Given the description of an element on the screen output the (x, y) to click on. 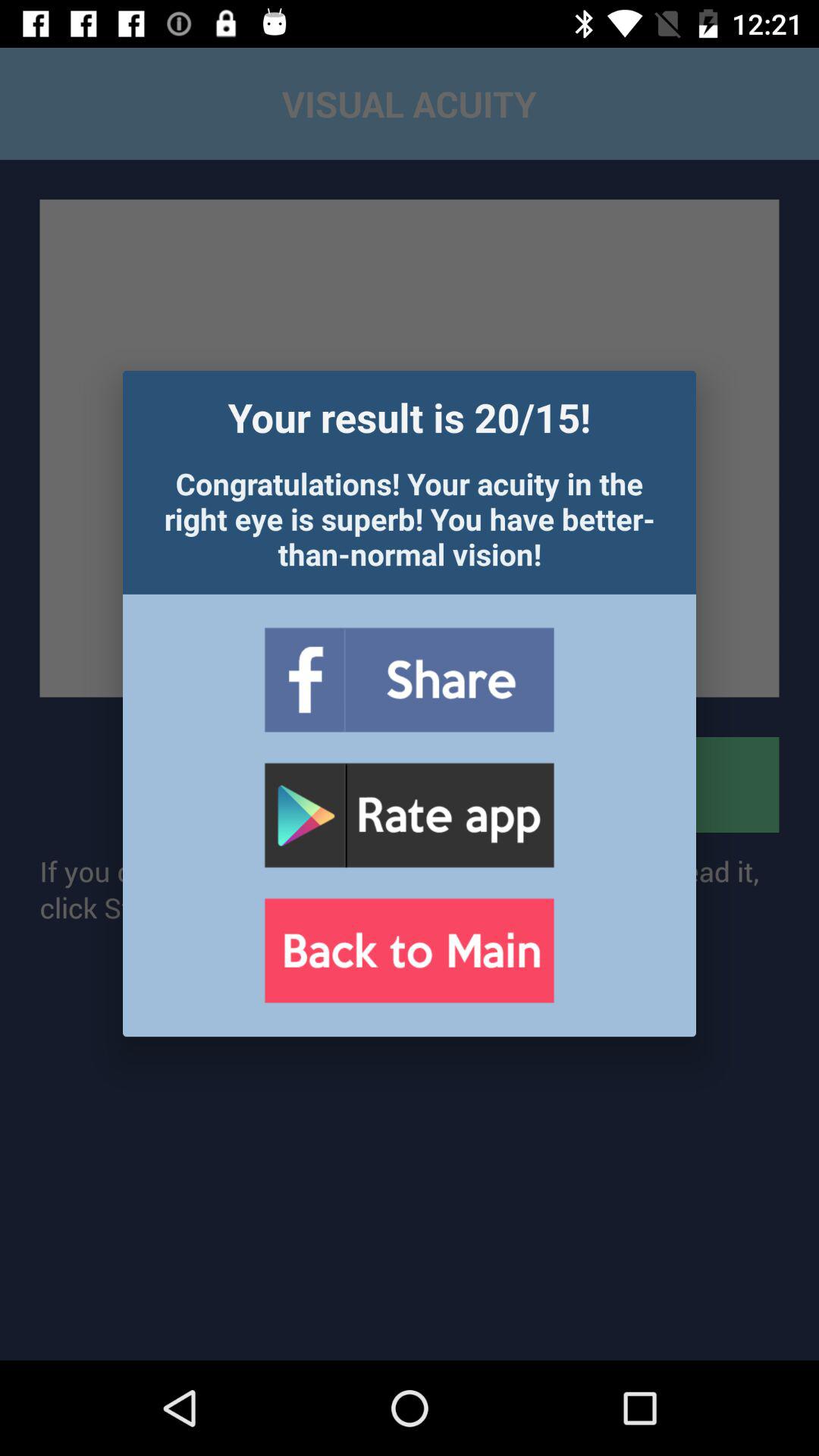
back to main (408, 950)
